Given the description of an element on the screen output the (x, y) to click on. 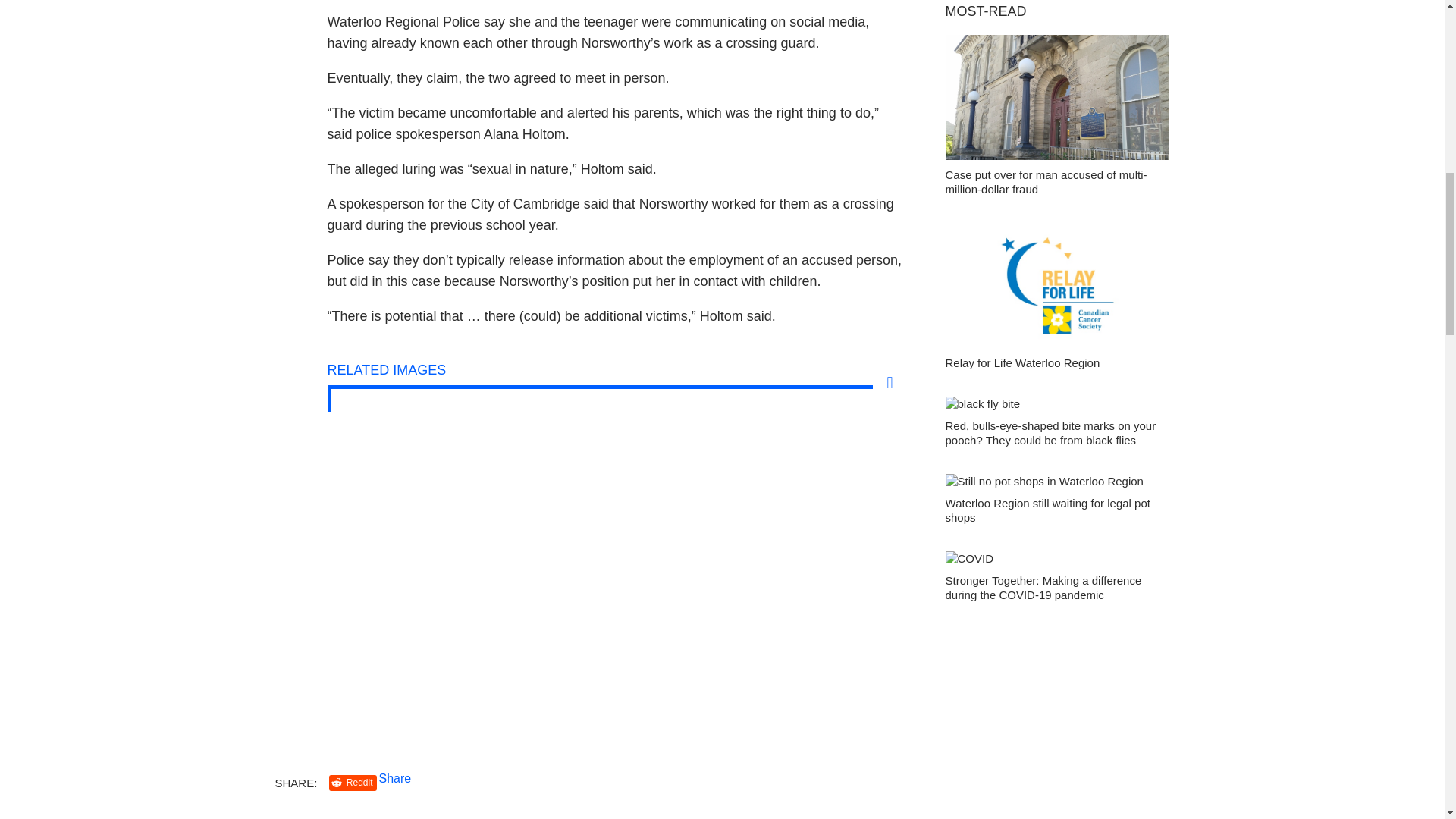
Why you can trust CTV News (820, 815)
Reddit (353, 782)
Report Error (363, 815)
Share (395, 778)
Editorial standards and policies (569, 815)
